Given the description of an element on the screen output the (x, y) to click on. 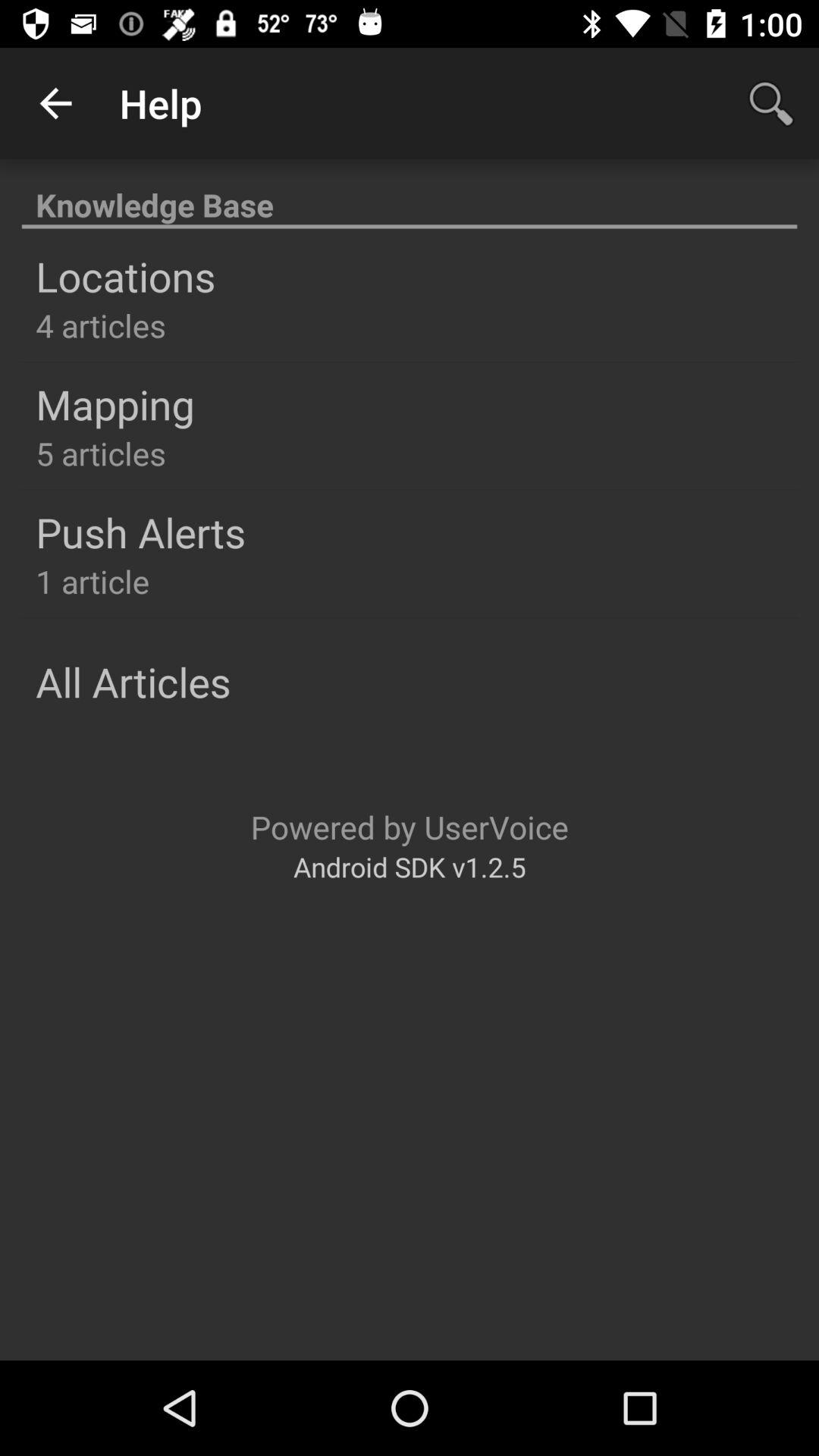
open icon below the all articles icon (409, 826)
